Given the description of an element on the screen output the (x, y) to click on. 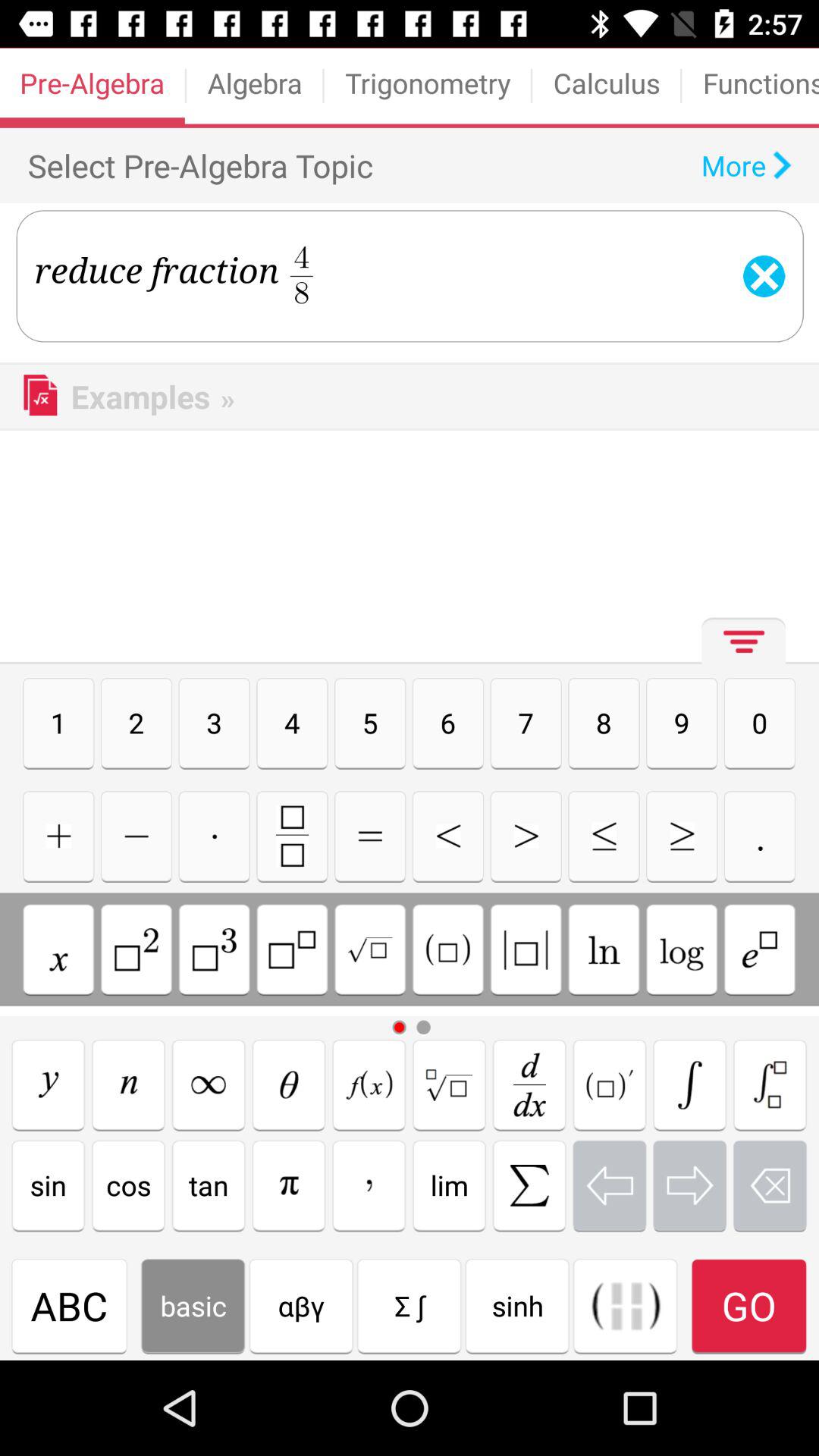
move selector back one space (609, 1185)
